Given the description of an element on the screen output the (x, y) to click on. 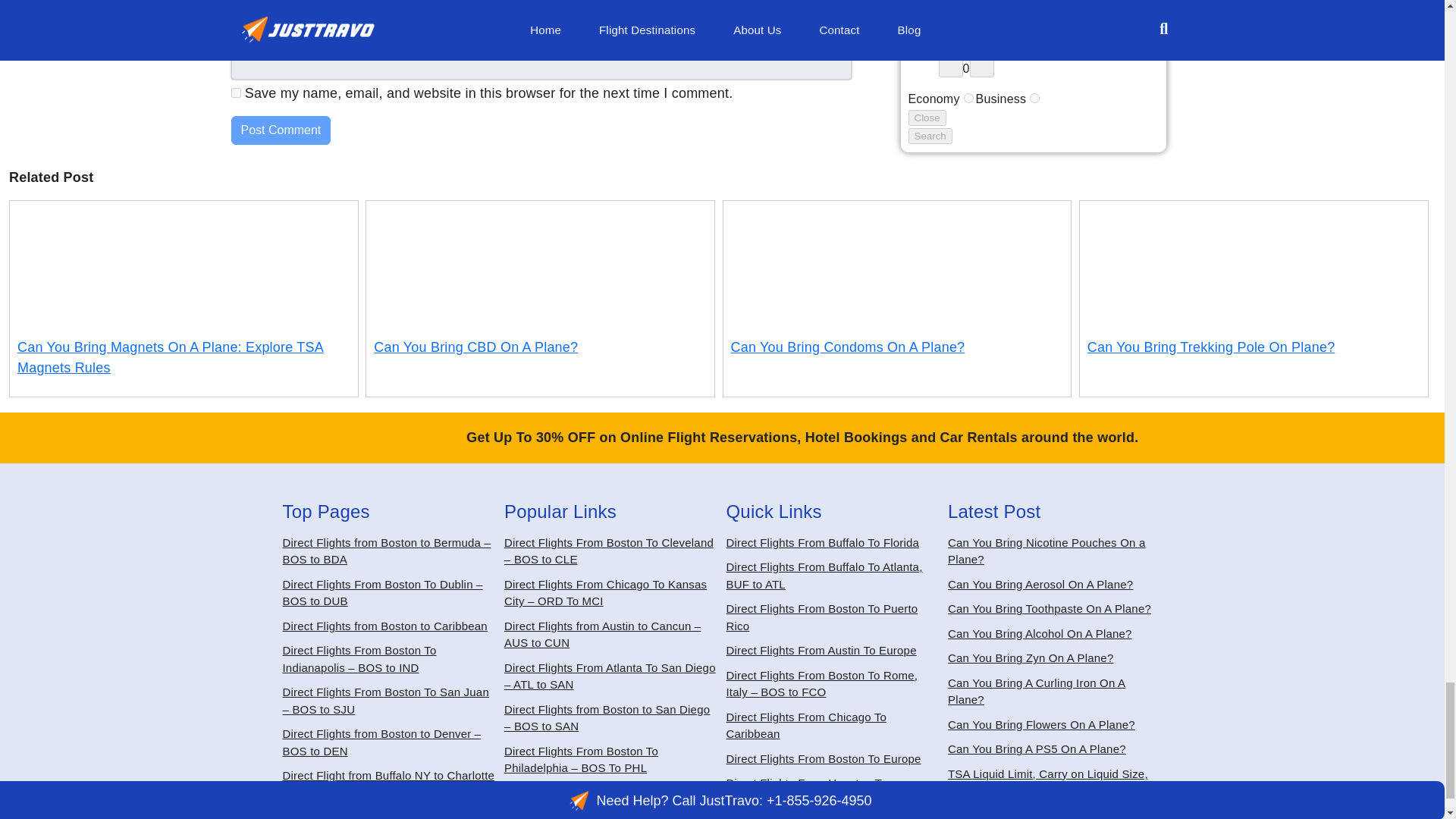
yes (235, 92)
Post Comment (280, 130)
